Given the description of an element on the screen output the (x, y) to click on. 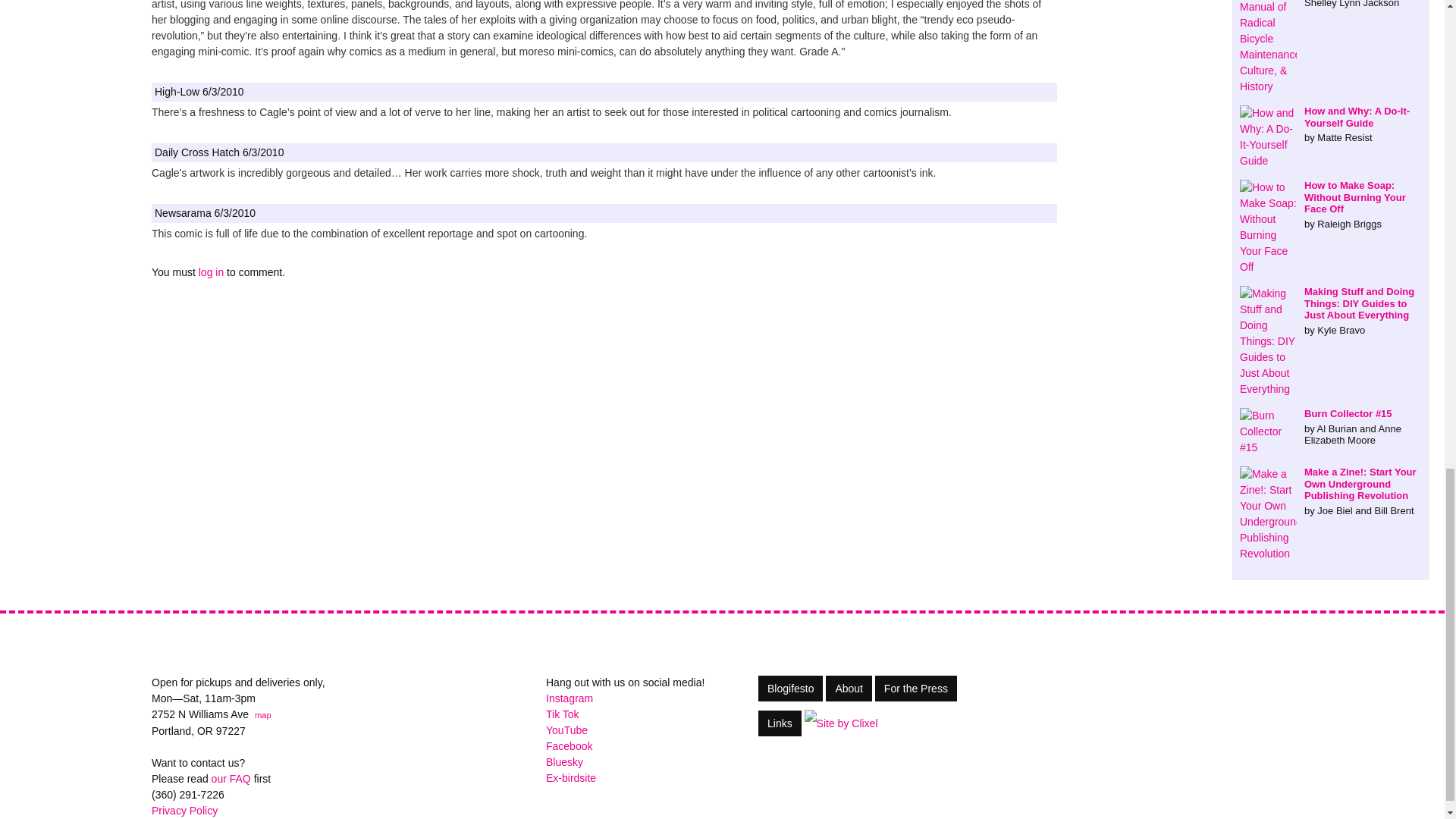
How to Make Soap: Without Burning Your Face Off (1331, 204)
How and Why: A Do-It-Yourself Guide (1331, 124)
log in (211, 272)
